Given the description of an element on the screen output the (x, y) to click on. 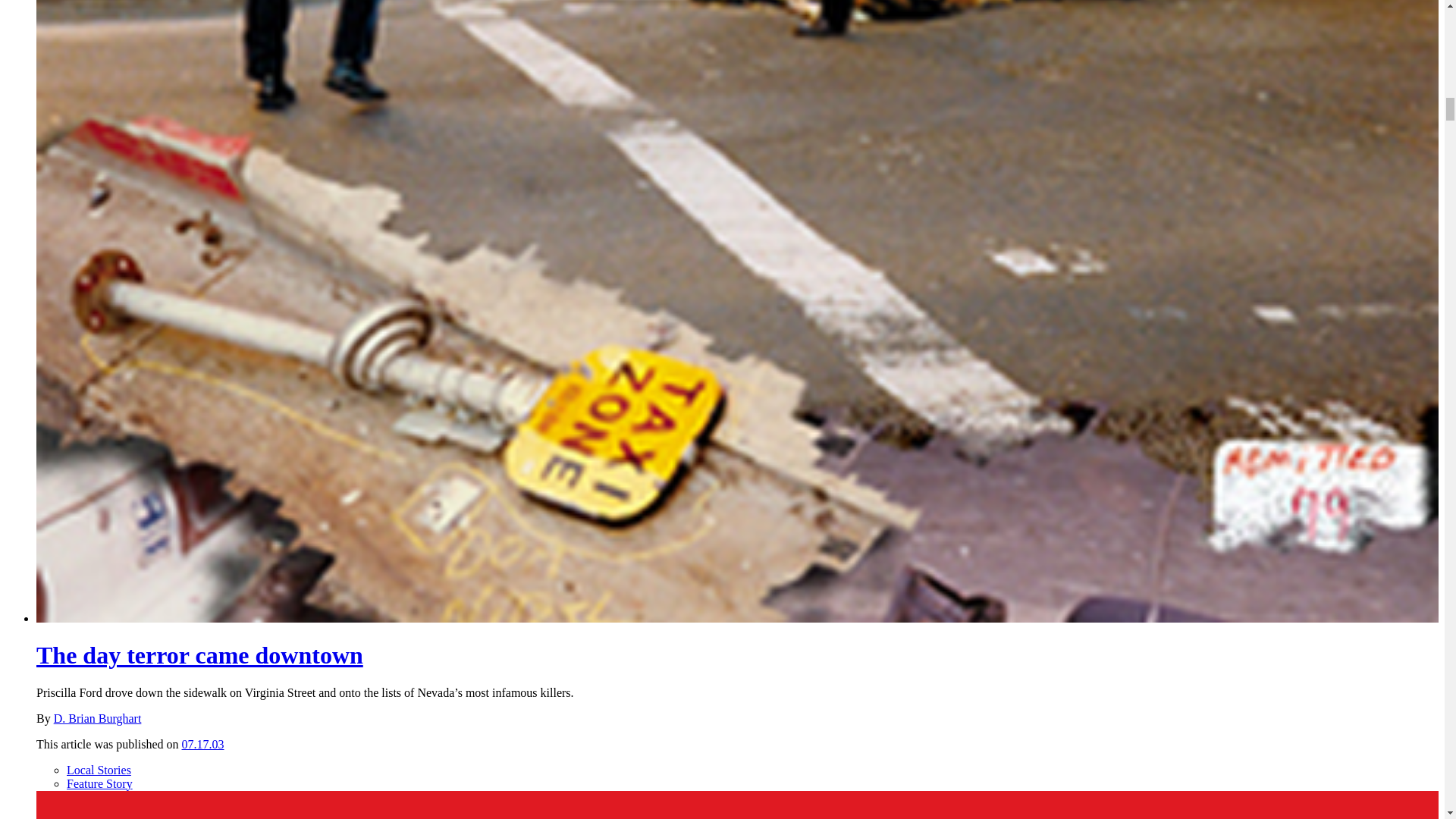
Local Stories (98, 769)
Feature Story (99, 783)
07.17.03 (203, 744)
D. Brian Burghart (97, 717)
The day terror came downtown (199, 655)
